Given the description of an element on the screen output the (x, y) to click on. 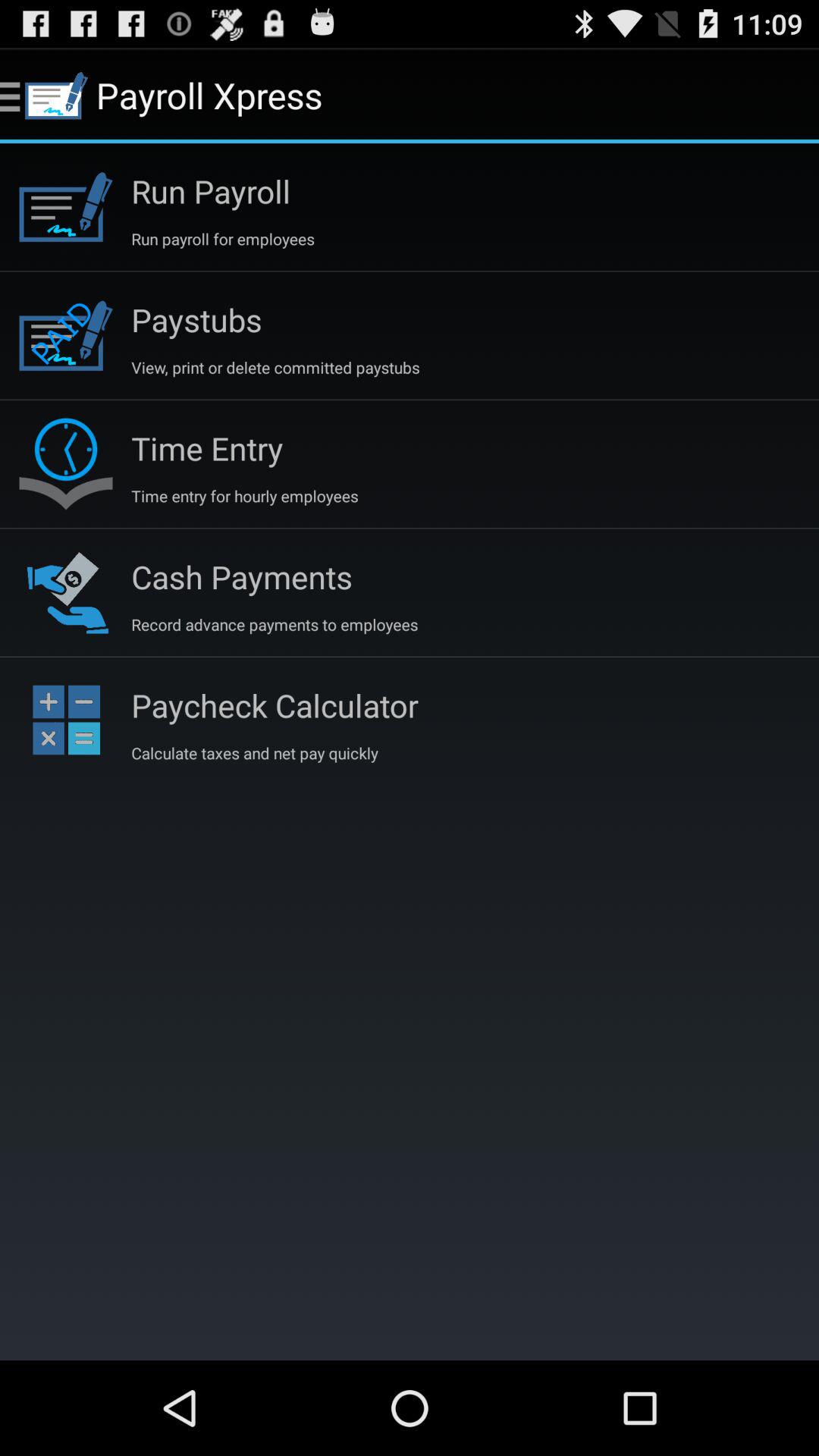
scroll until record advance payments item (274, 624)
